Given the description of an element on the screen output the (x, y) to click on. 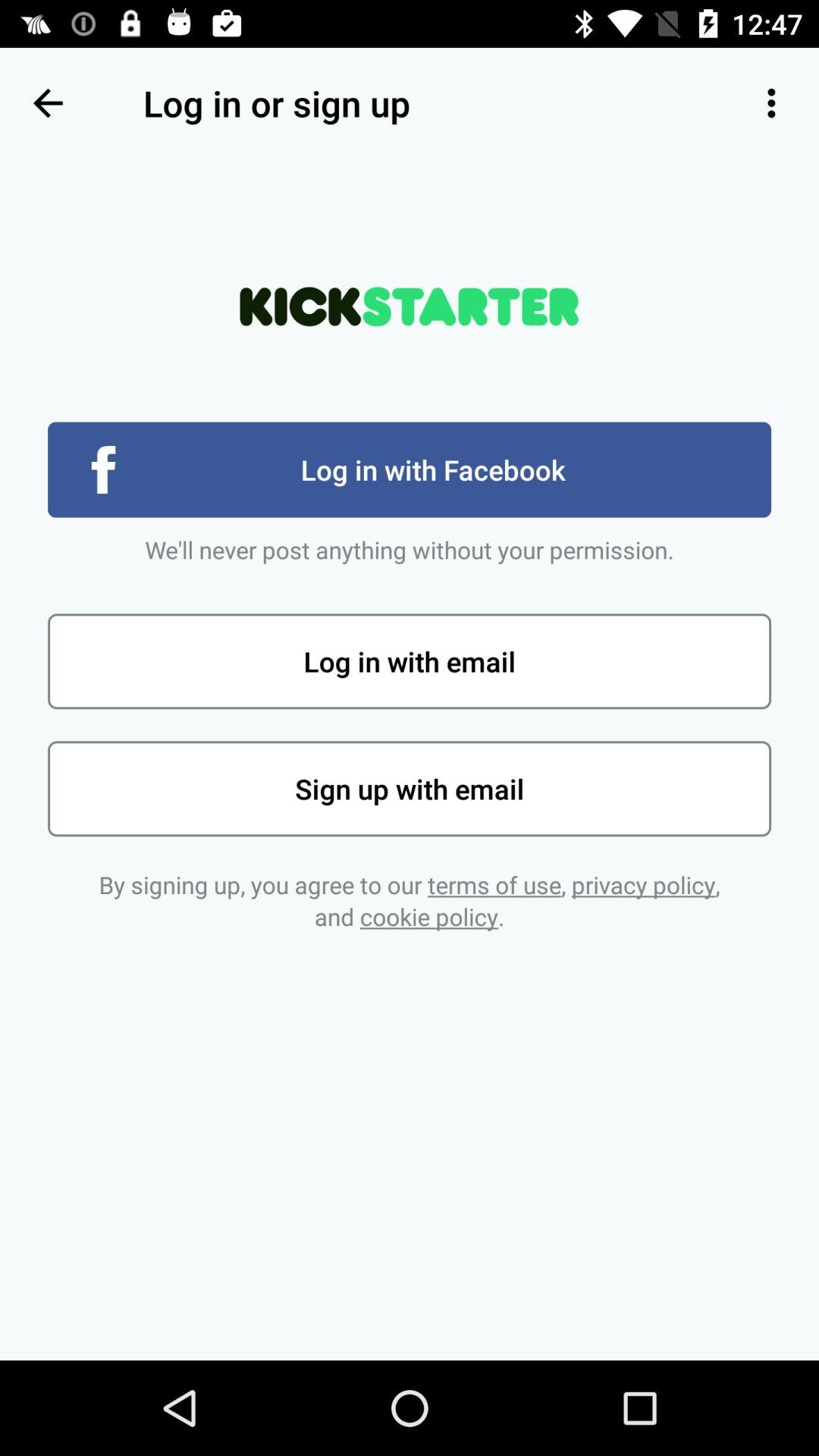
turn off item to the left of the log in or item (47, 103)
